Given the description of an element on the screen output the (x, y) to click on. 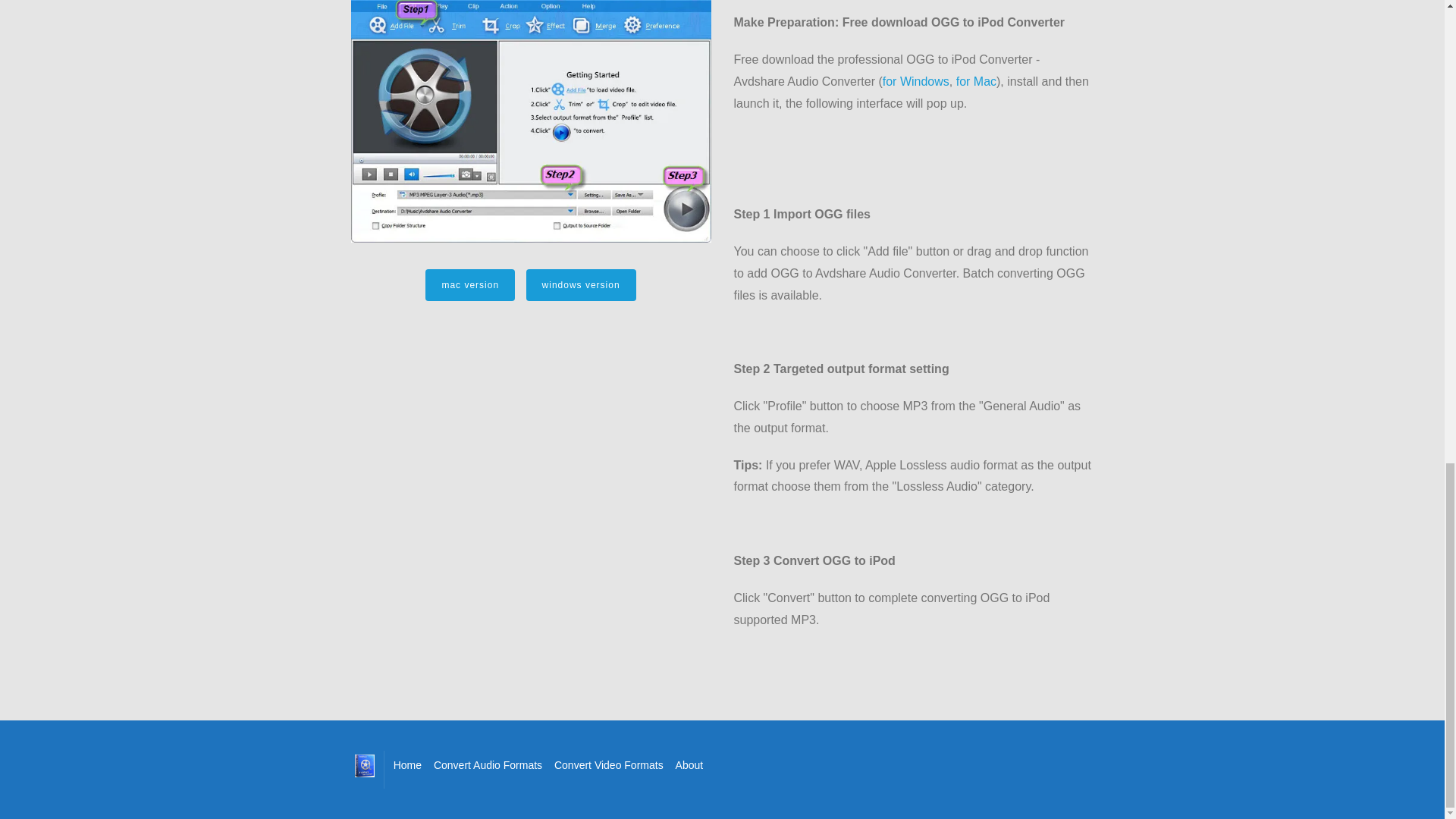
mac version (470, 285)
Home (407, 764)
windows version (580, 285)
Convert Video Formats (608, 764)
About (689, 764)
for Mac (975, 81)
Convert Audio Formats (487, 764)
for Windows (915, 81)
